Given the description of an element on the screen output the (x, y) to click on. 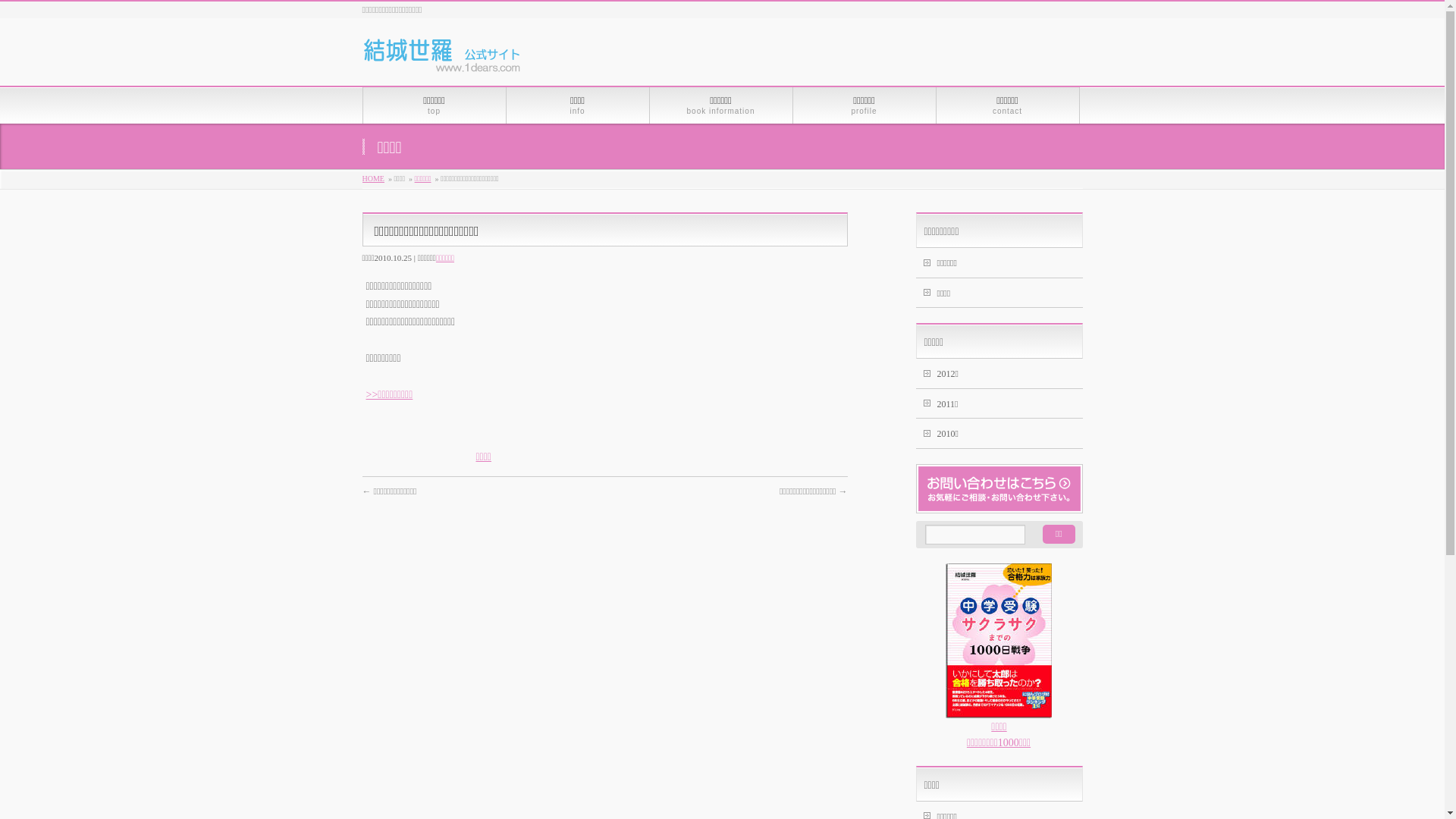
HOME Element type: text (373, 178)
